Given the description of an element on the screen output the (x, y) to click on. 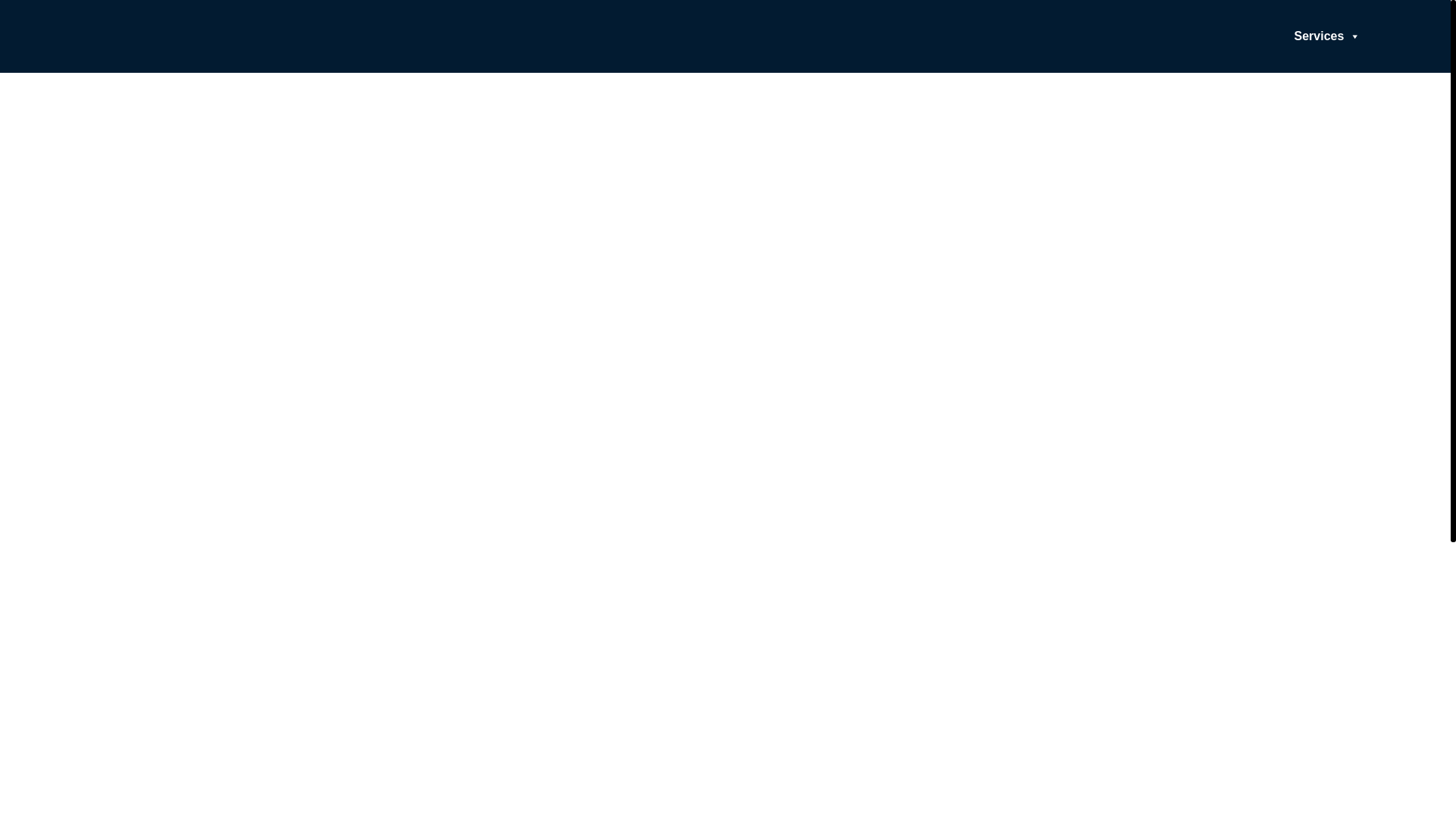
Services (1327, 35)
